Given the description of an element on the screen output the (x, y) to click on. 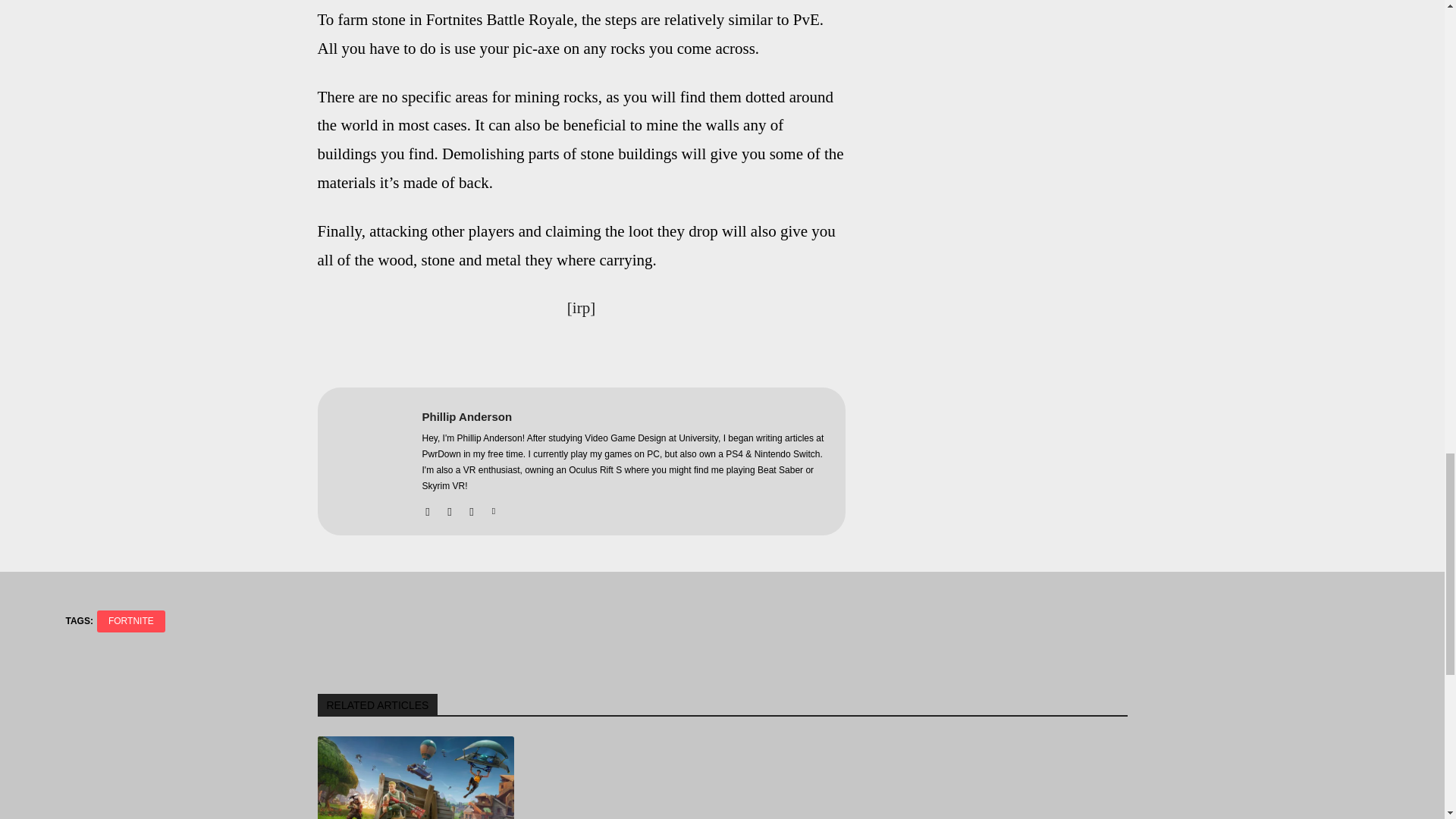
Mail (471, 508)
Twitter (493, 508)
Instagram (449, 508)
Facebook (427, 508)
